Given the description of an element on the screen output the (x, y) to click on. 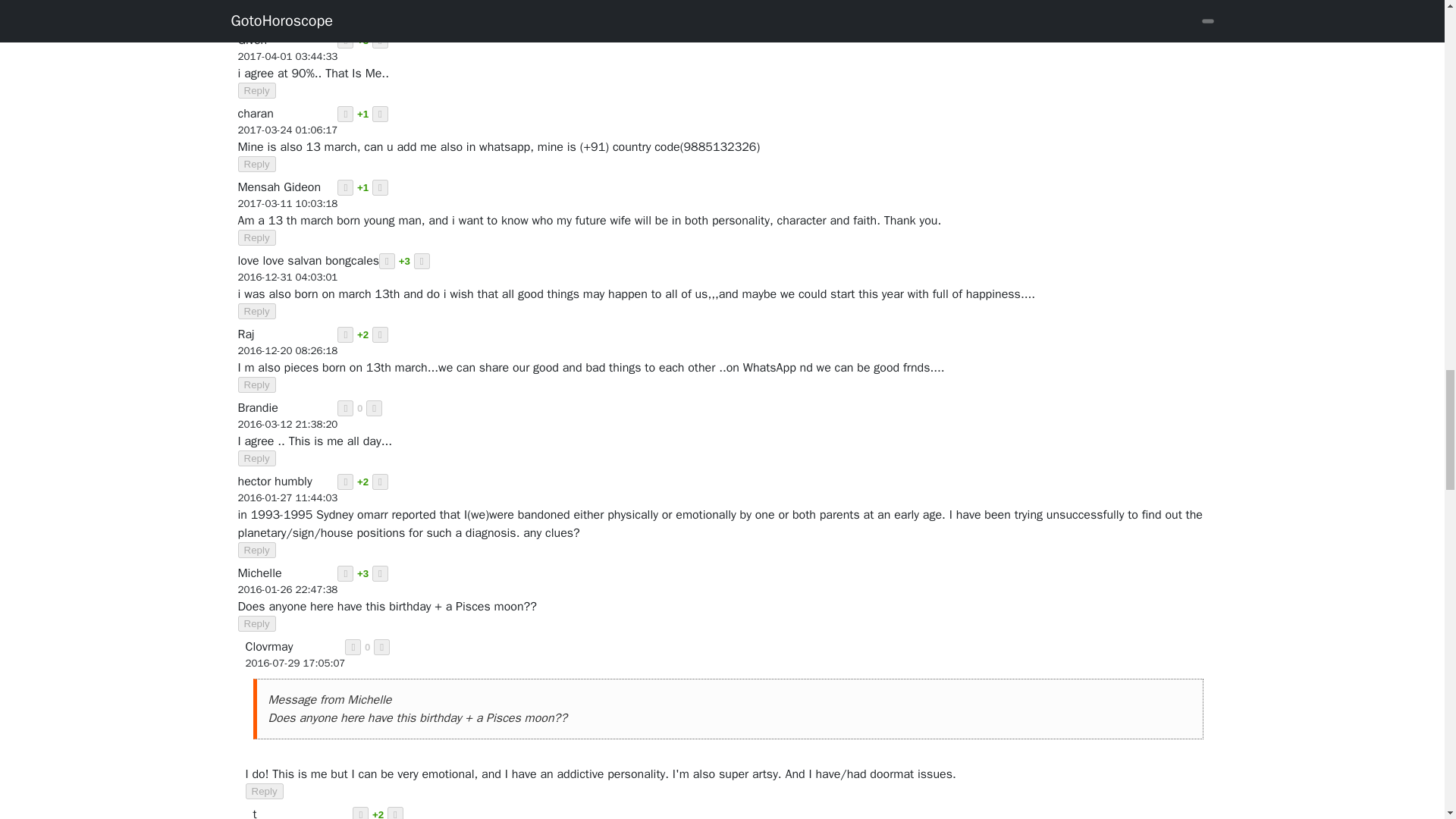
Reply (257, 311)
Reply (257, 163)
Reply (257, 90)
Reply (257, 17)
Reply (257, 237)
